Given the description of an element on the screen output the (x, y) to click on. 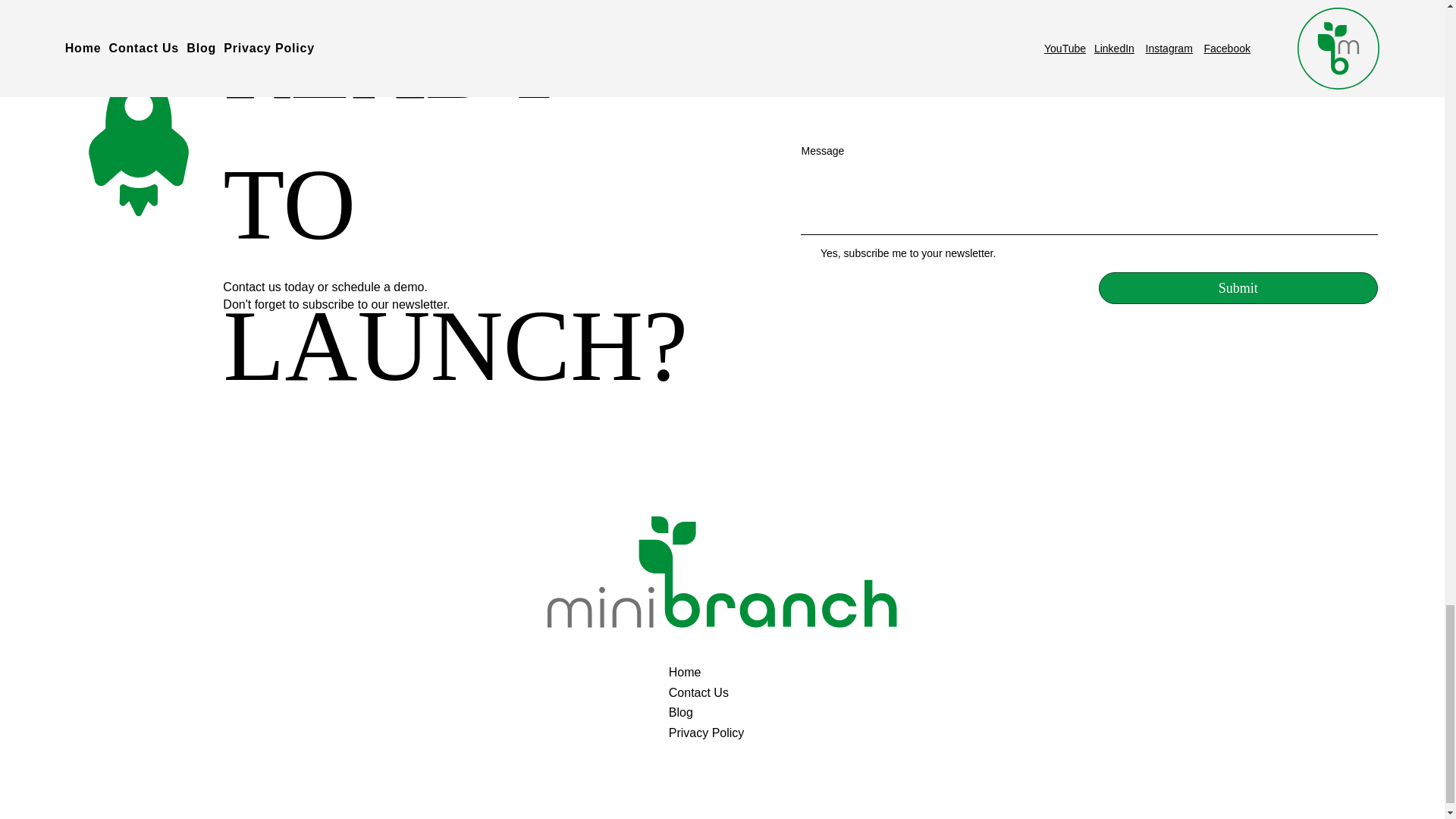
Home (727, 672)
Blog (727, 712)
Submit (1238, 287)
Contact Us (727, 692)
Privacy Policy (727, 732)
